Given the description of an element on the screen output the (x, y) to click on. 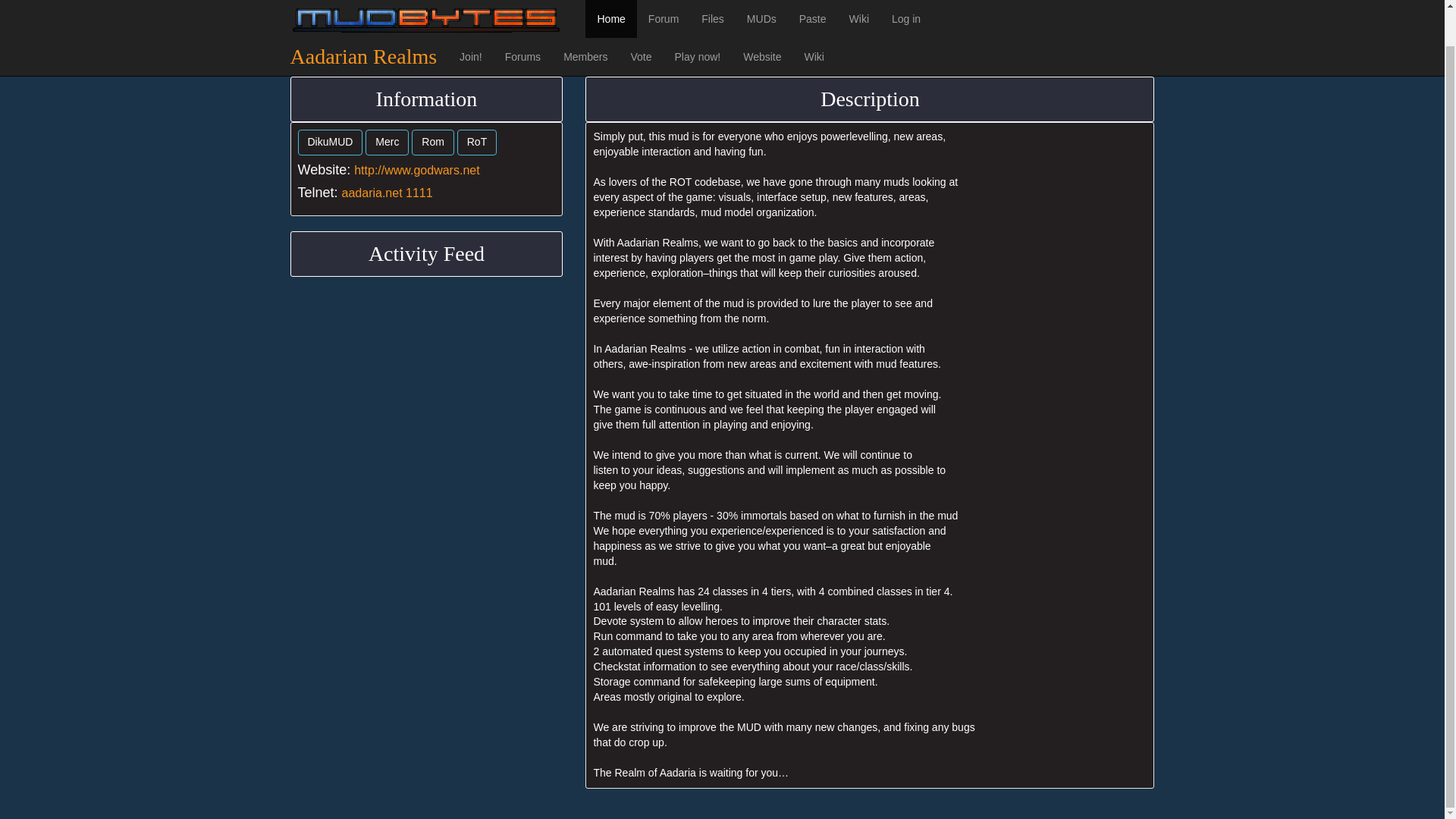
Wiki (814, 19)
Join! (470, 19)
MUDs (761, 0)
Forums (522, 19)
Files (712, 0)
Merc (387, 142)
Members (584, 19)
Paste (812, 0)
DikuMUD (329, 142)
Rom (433, 142)
